Given the description of an element on the screen output the (x, y) to click on. 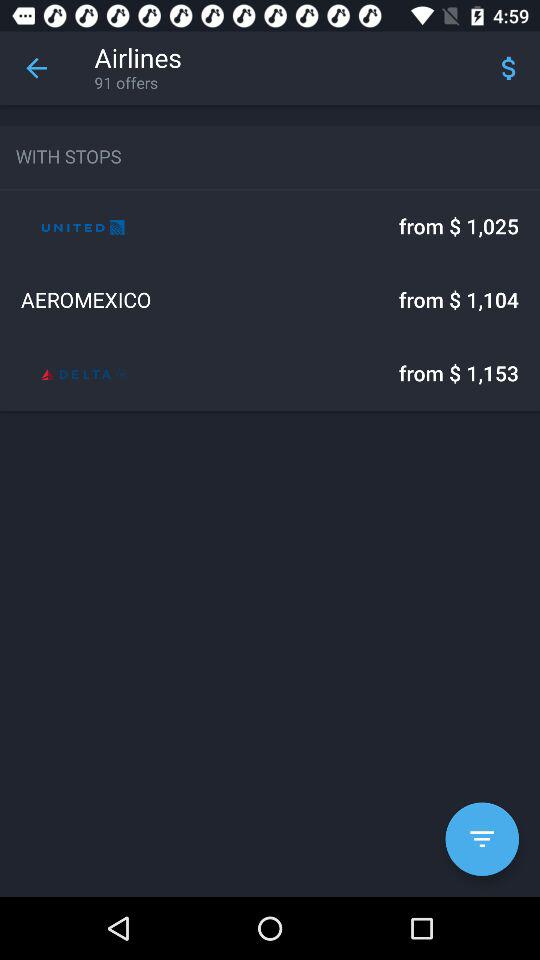
open the item at the bottom right corner (482, 839)
